Given the description of an element on the screen output the (x, y) to click on. 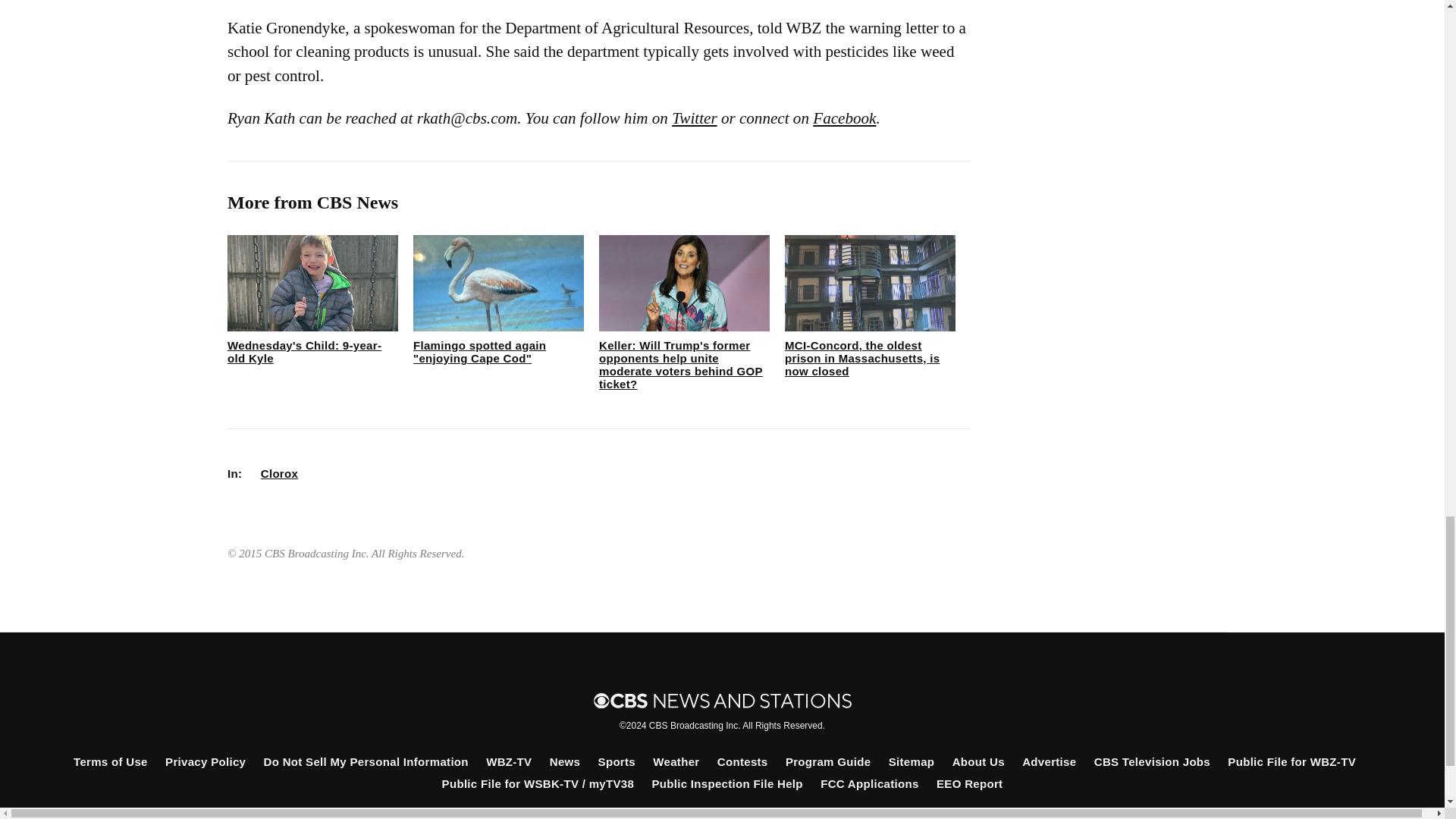
facebook (643, 816)
twitter (694, 816)
instagram (745, 816)
youtube (797, 816)
